Given the description of an element on the screen output the (x, y) to click on. 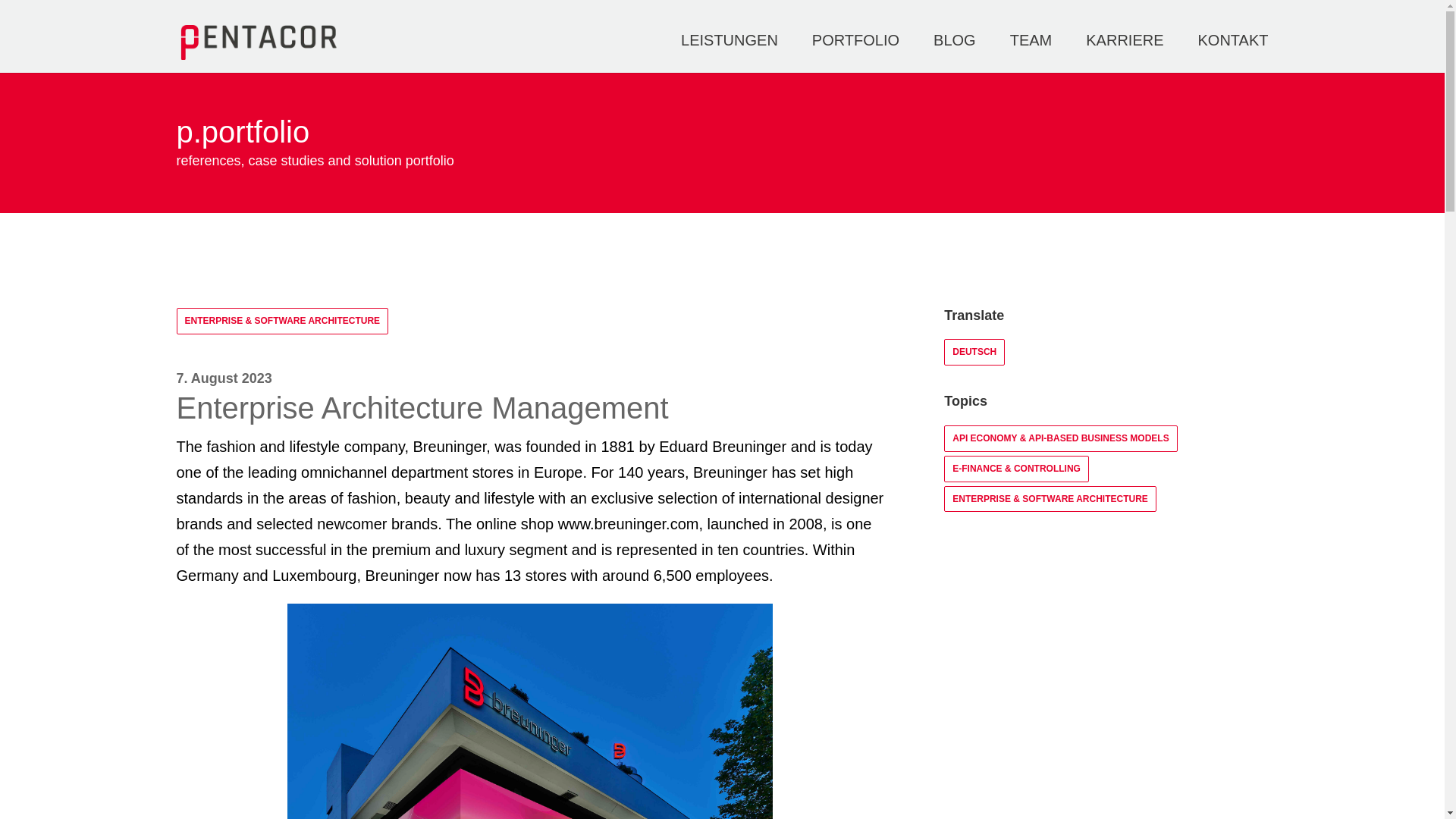
IMPRESSUM (952, 694)
DATENSCHUTZ (751, 795)
DEUTSCH (1182, 694)
KARRIERE (842, 795)
TEAM (973, 352)
KONTAKT (1124, 53)
BLOG (1031, 53)
LEISTUNGEN (1233, 53)
